Given the description of an element on the screen output the (x, y) to click on. 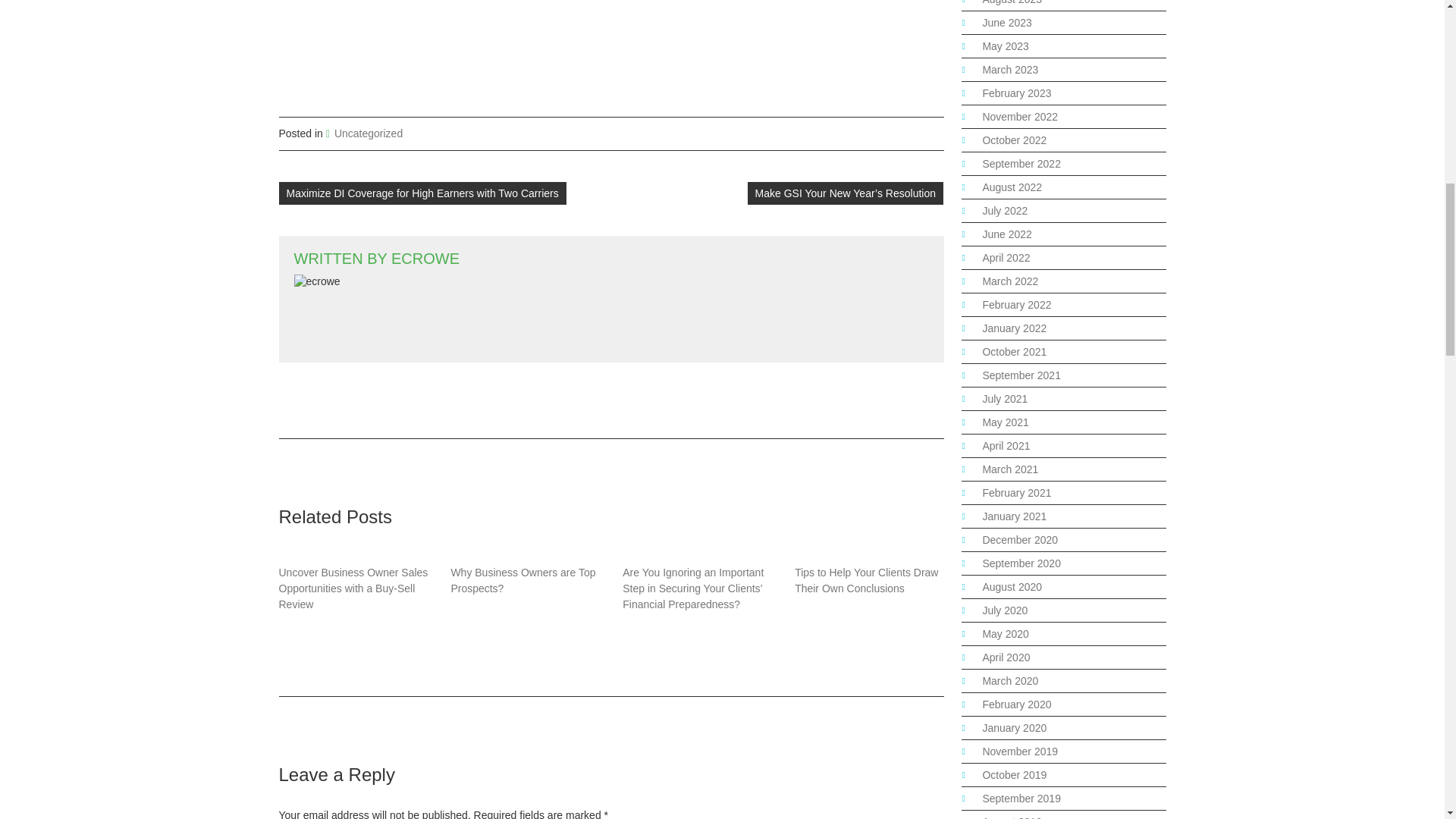
Maximize DI Coverage for High Earners with Two Carriers (422, 192)
Uncategorized (368, 133)
Why Business Owners are Top Prospects? (522, 580)
Posts by ecrowe (425, 258)
ECROWE (425, 258)
